Given the description of an element on the screen output the (x, y) to click on. 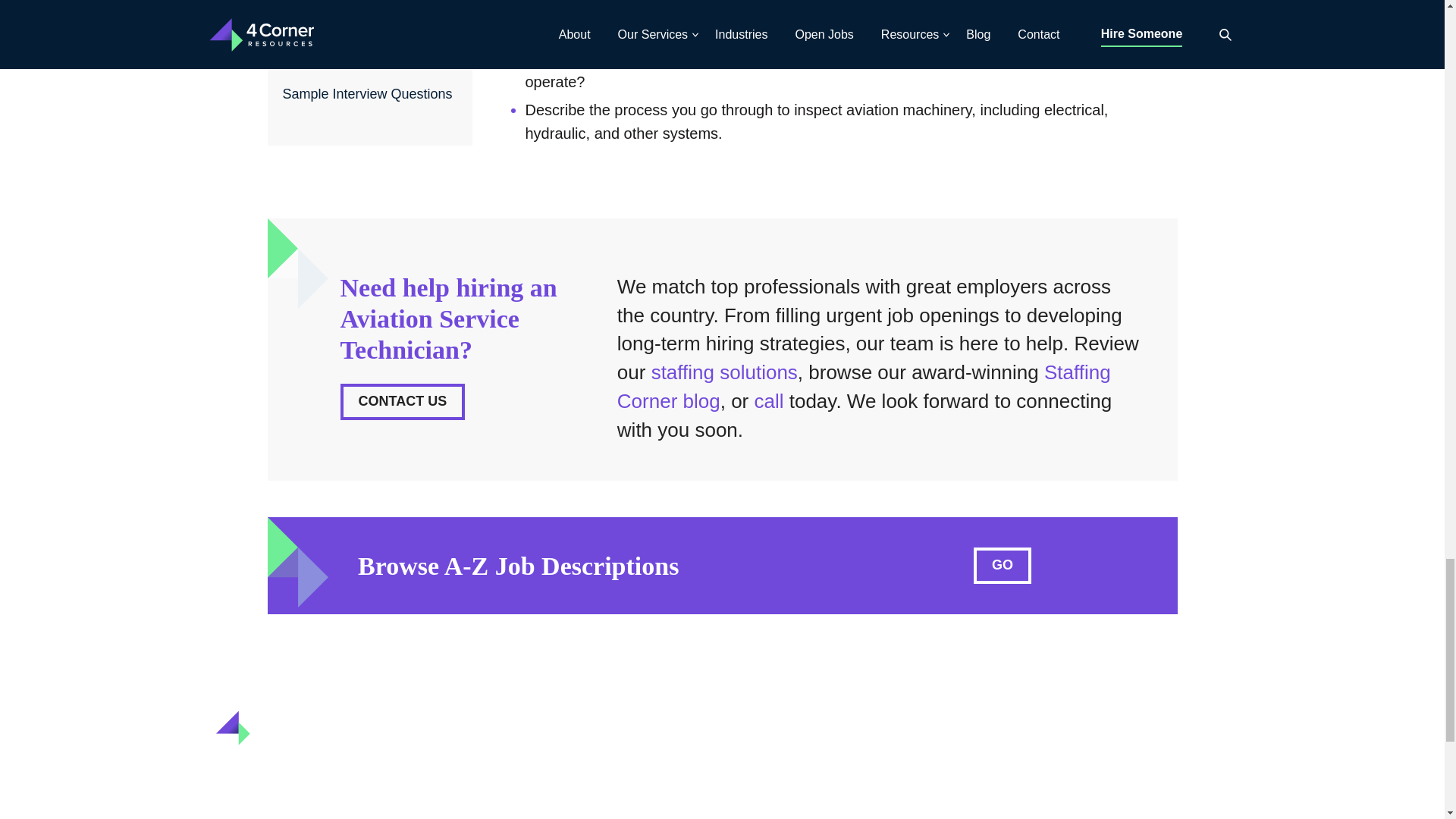
GO (1002, 565)
staffing solutions (723, 372)
Staffing Corner blog (863, 386)
call (768, 400)
CONTACT US (401, 402)
